Given the description of an element on the screen output the (x, y) to click on. 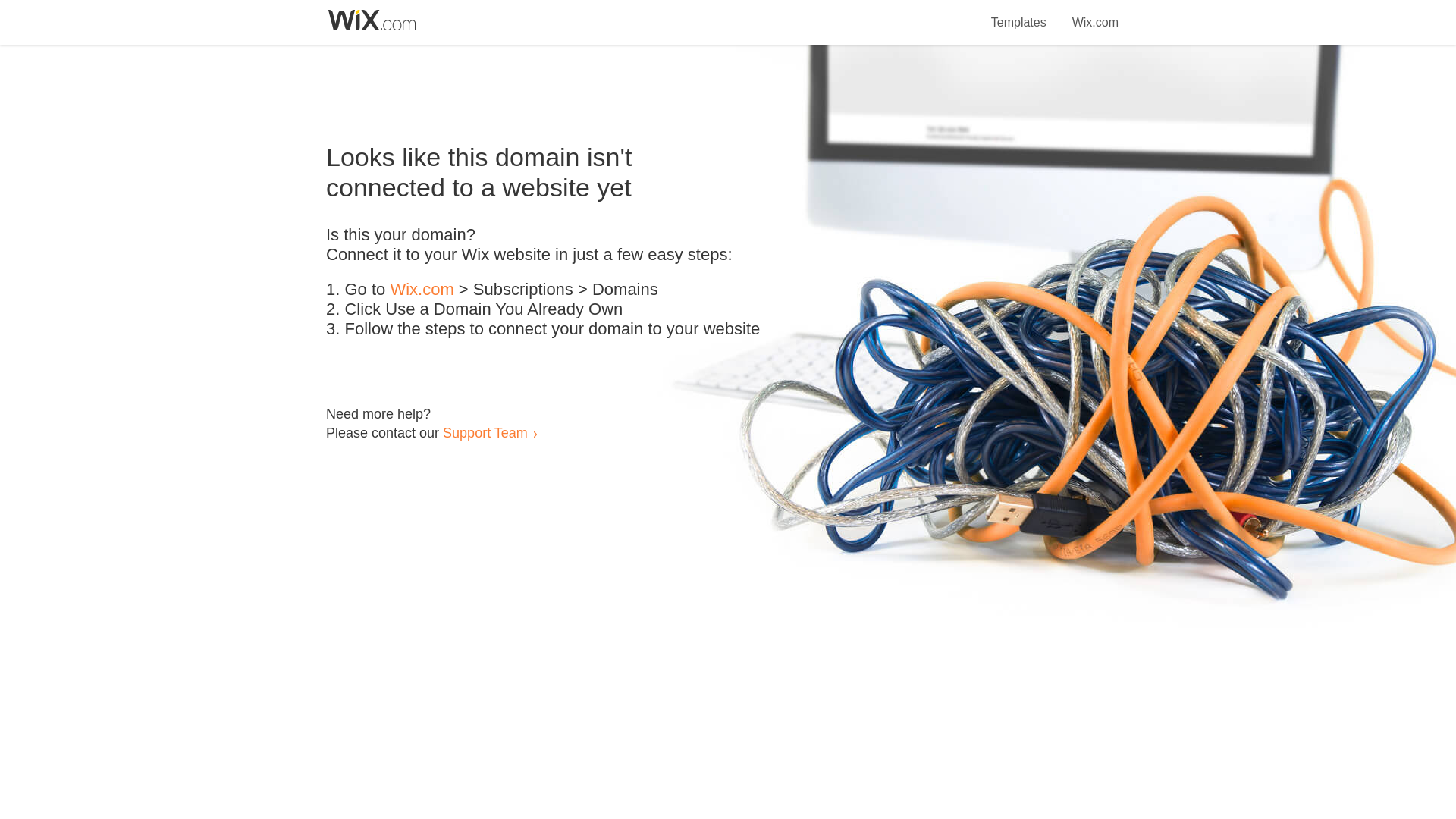
Wix.com (1095, 14)
Templates (1018, 14)
Wix.com (421, 289)
Support Team (484, 432)
